Given the description of an element on the screen output the (x, y) to click on. 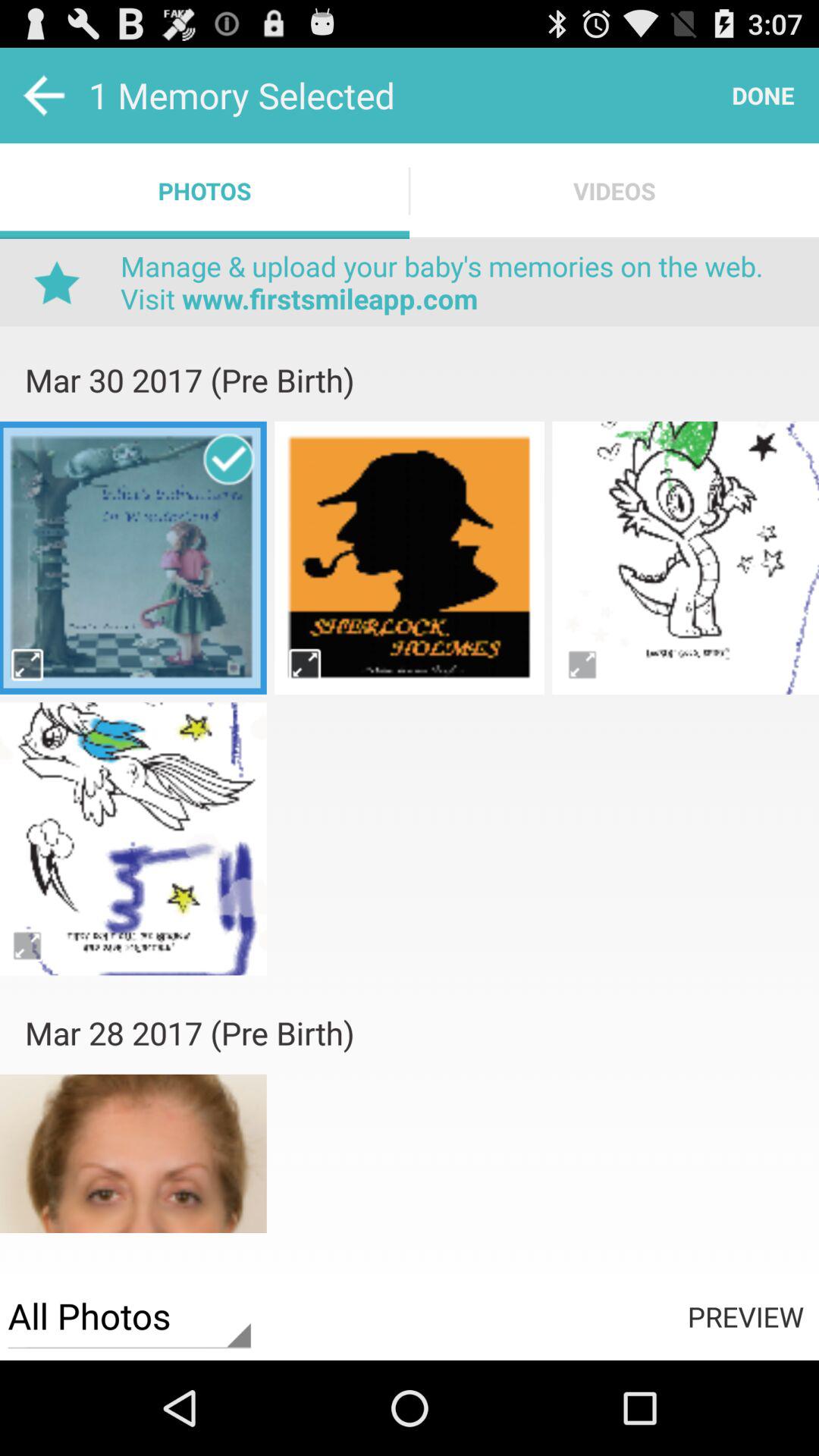
view this image full screen (581, 664)
